Given the description of an element on the screen output the (x, y) to click on. 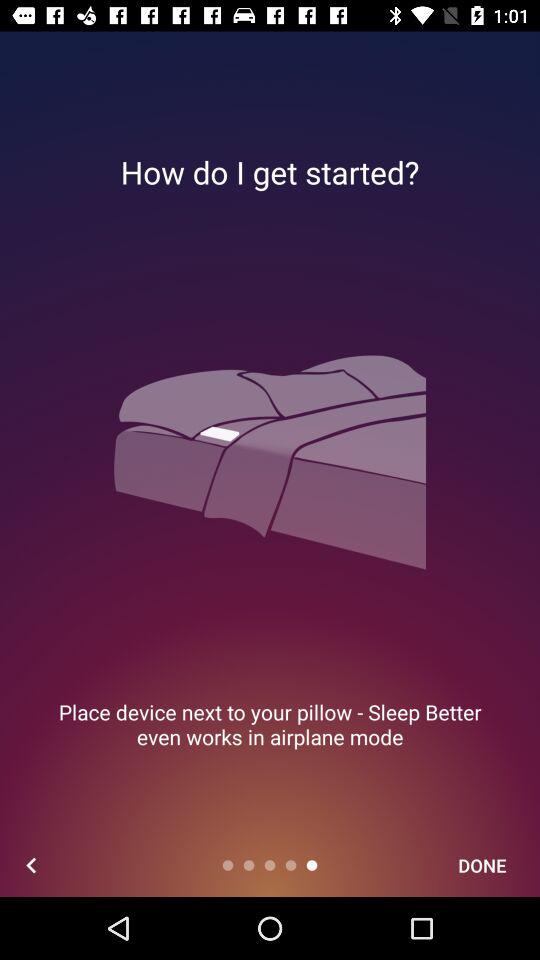
launch the icon at the bottom left corner (31, 864)
